Given the description of an element on the screen output the (x, y) to click on. 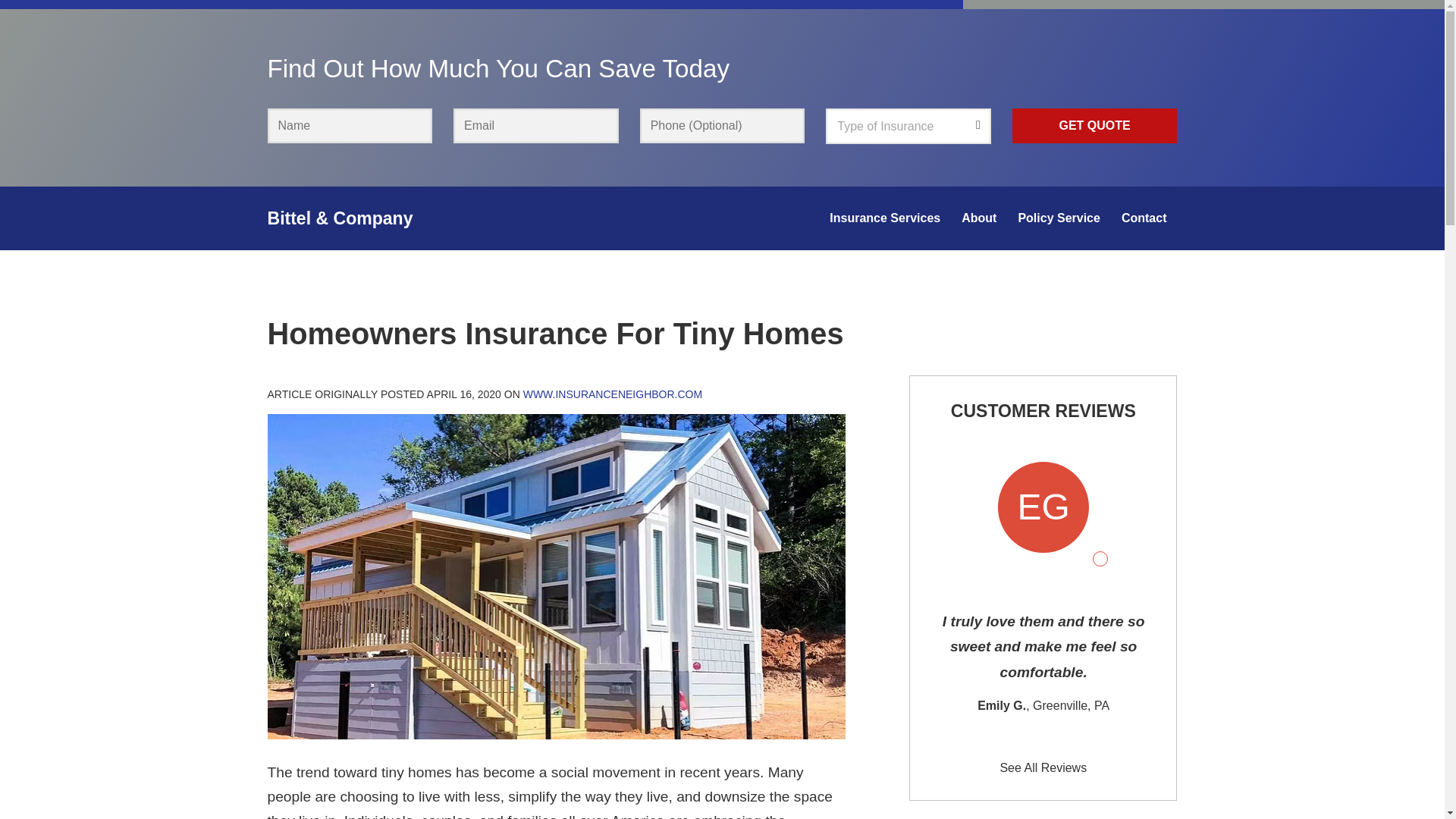
Insurance Services (884, 218)
Get Quote (1094, 125)
Get Quote (1094, 125)
